Given the description of an element on the screen output the (x, y) to click on. 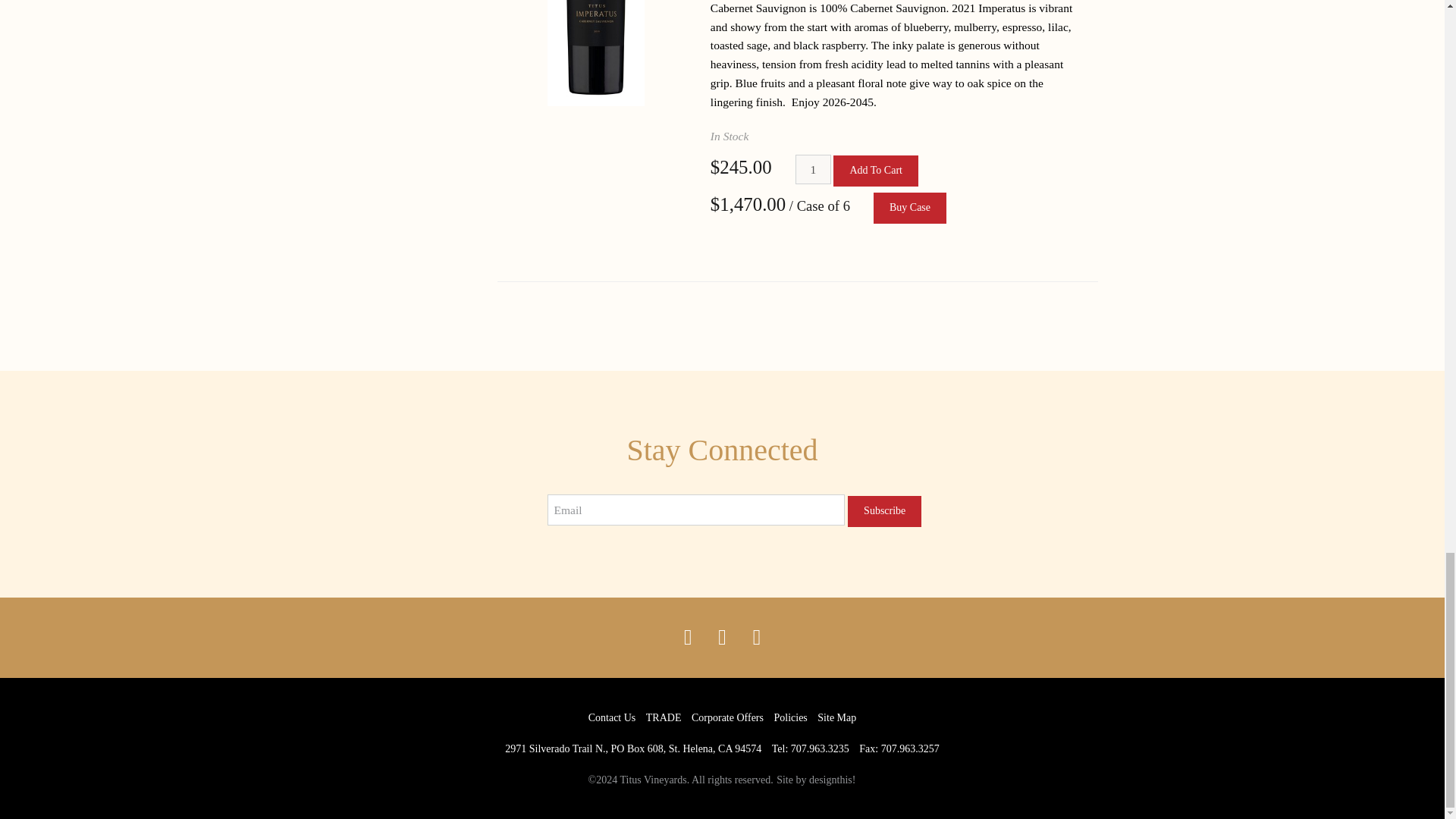
Email (696, 509)
1 (812, 169)
Twitter (721, 637)
Instagram (756, 637)
Facebook (687, 637)
